Given the description of an element on the screen output the (x, y) to click on. 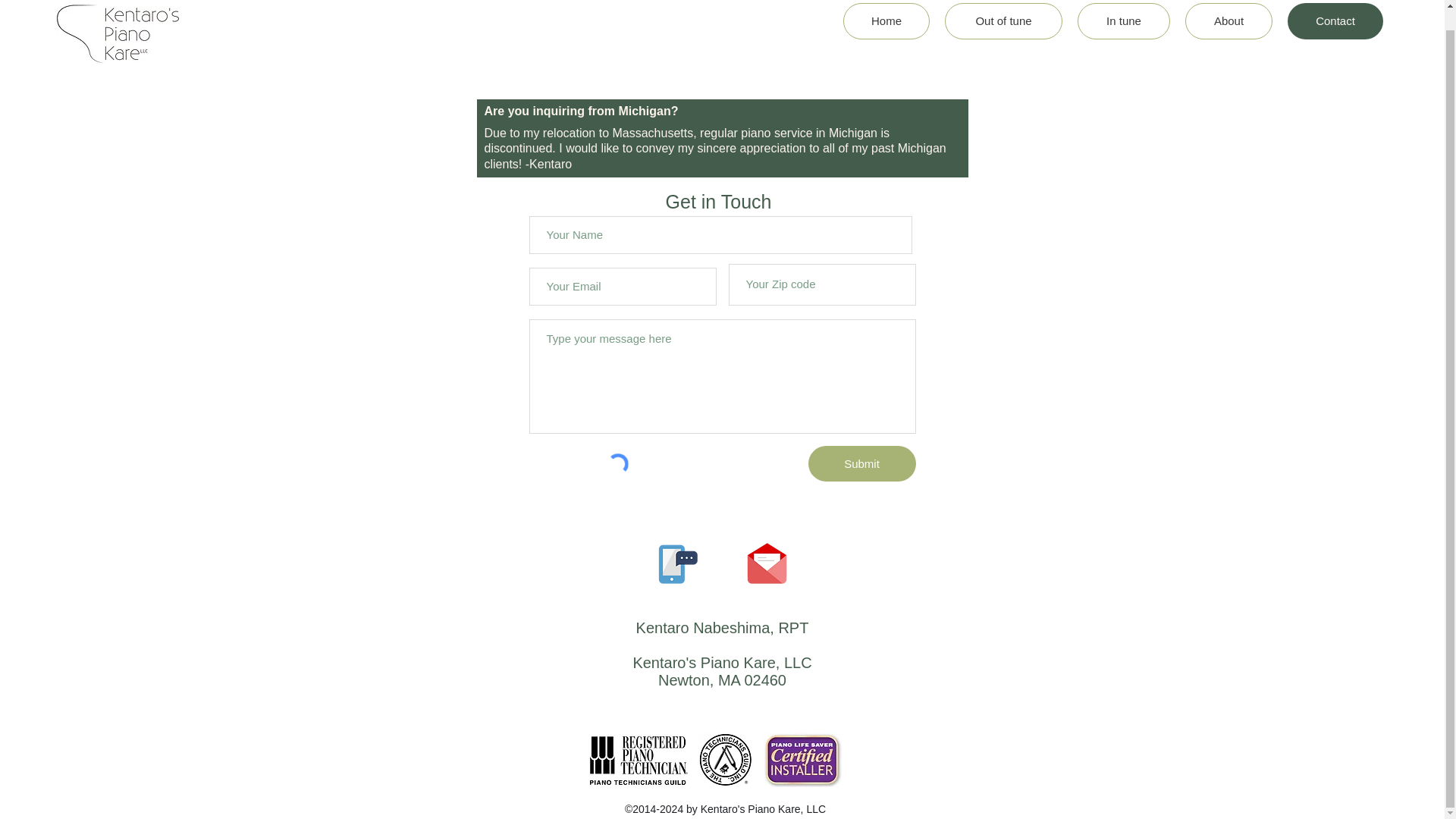
Submit (861, 463)
Home (886, 21)
Out of tune (1003, 21)
In tune (1123, 21)
What is an RPT? (638, 759)
Contact (1335, 21)
About (1228, 21)
